Given the description of an element on the screen output the (x, y) to click on. 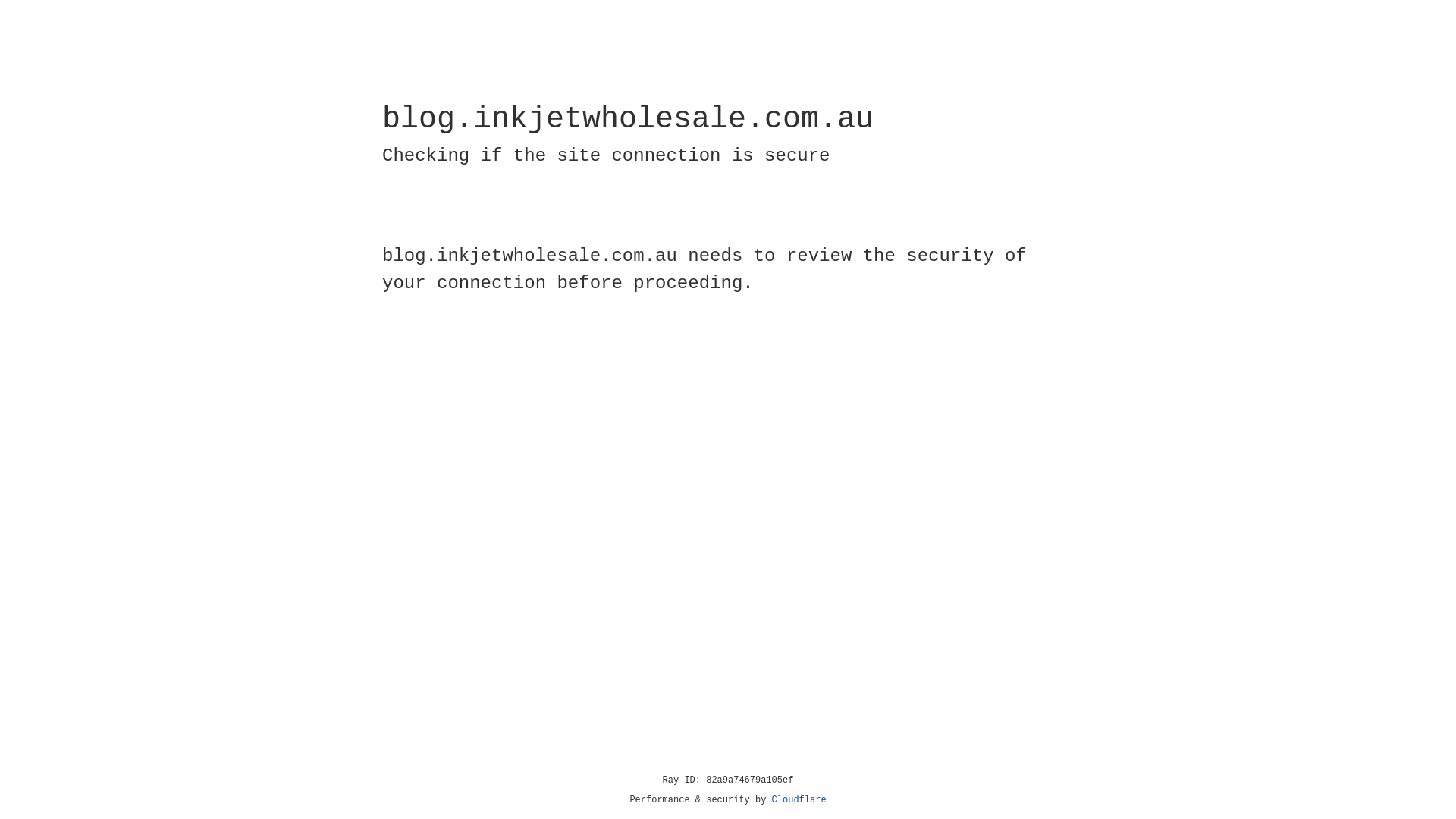
Cloudflare Element type: text (798, 799)
